Given the description of an element on the screen output the (x, y) to click on. 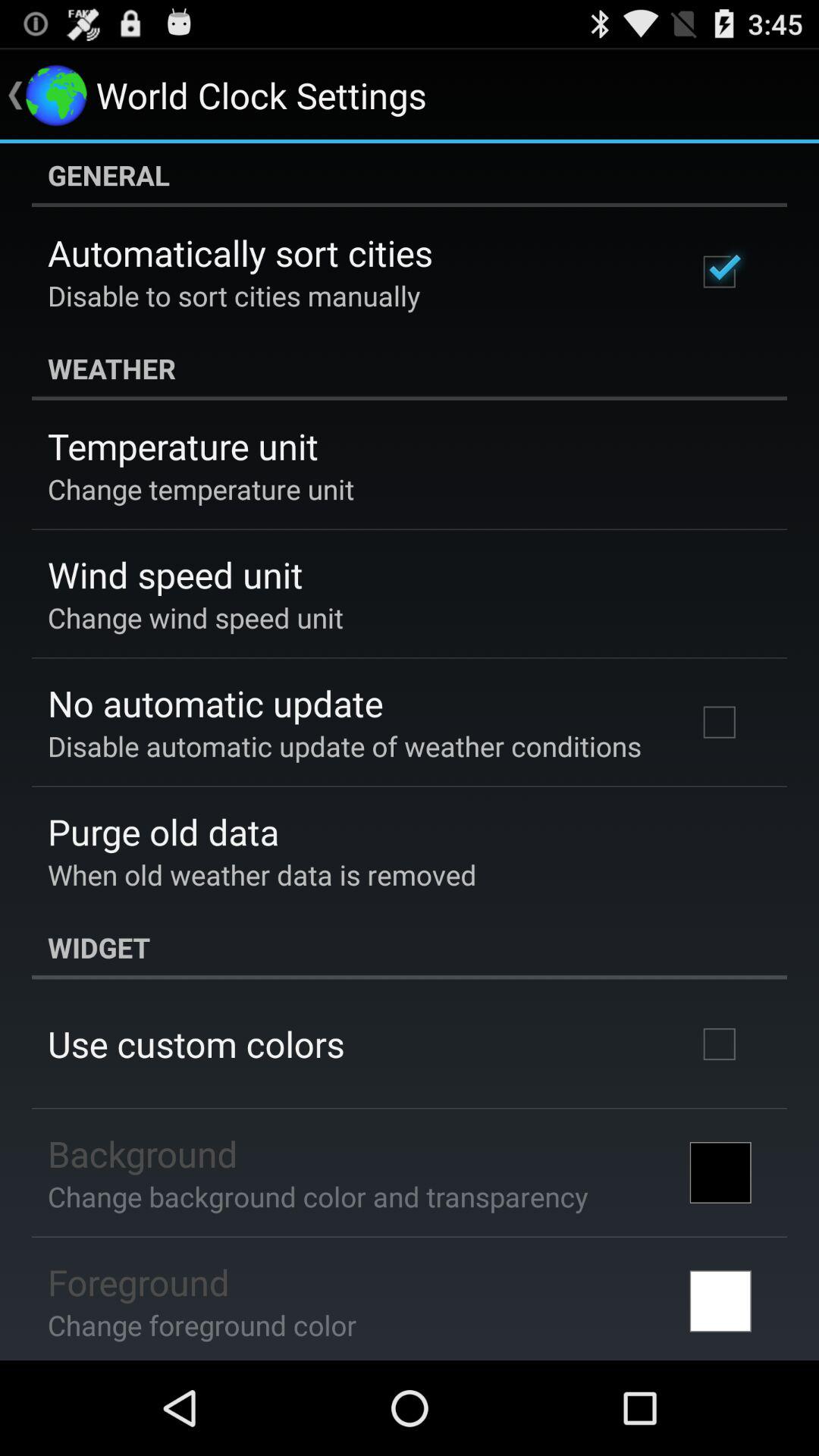
turn off disable to sort app (233, 295)
